Given the description of an element on the screen output the (x, y) to click on. 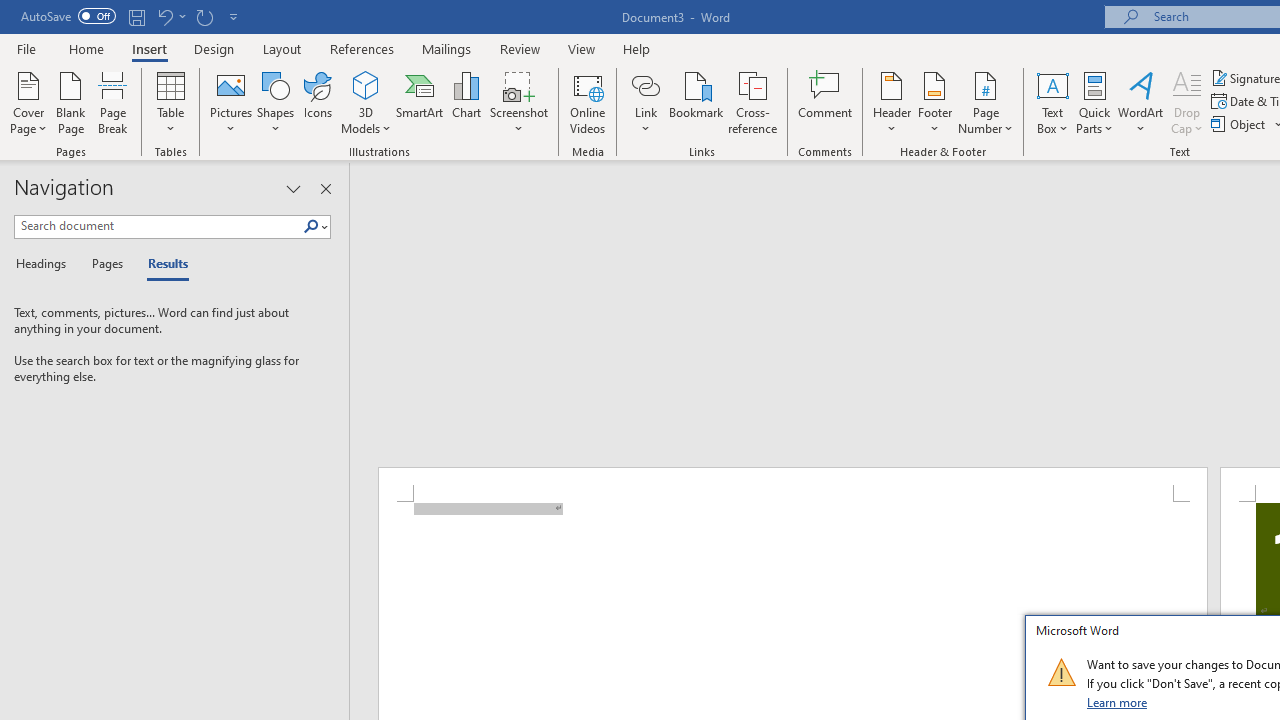
Review (520, 48)
Chart... (466, 102)
Online Videos... (588, 102)
Insert (149, 48)
Bookmark... (695, 102)
Learn more (1118, 702)
Text Box (1052, 102)
Icons (317, 102)
Cross-reference... (752, 102)
Help (637, 48)
Link (645, 102)
Design (214, 48)
Page Number (986, 102)
Quick Access Toolbar (131, 16)
